Given the description of an element on the screen output the (x, y) to click on. 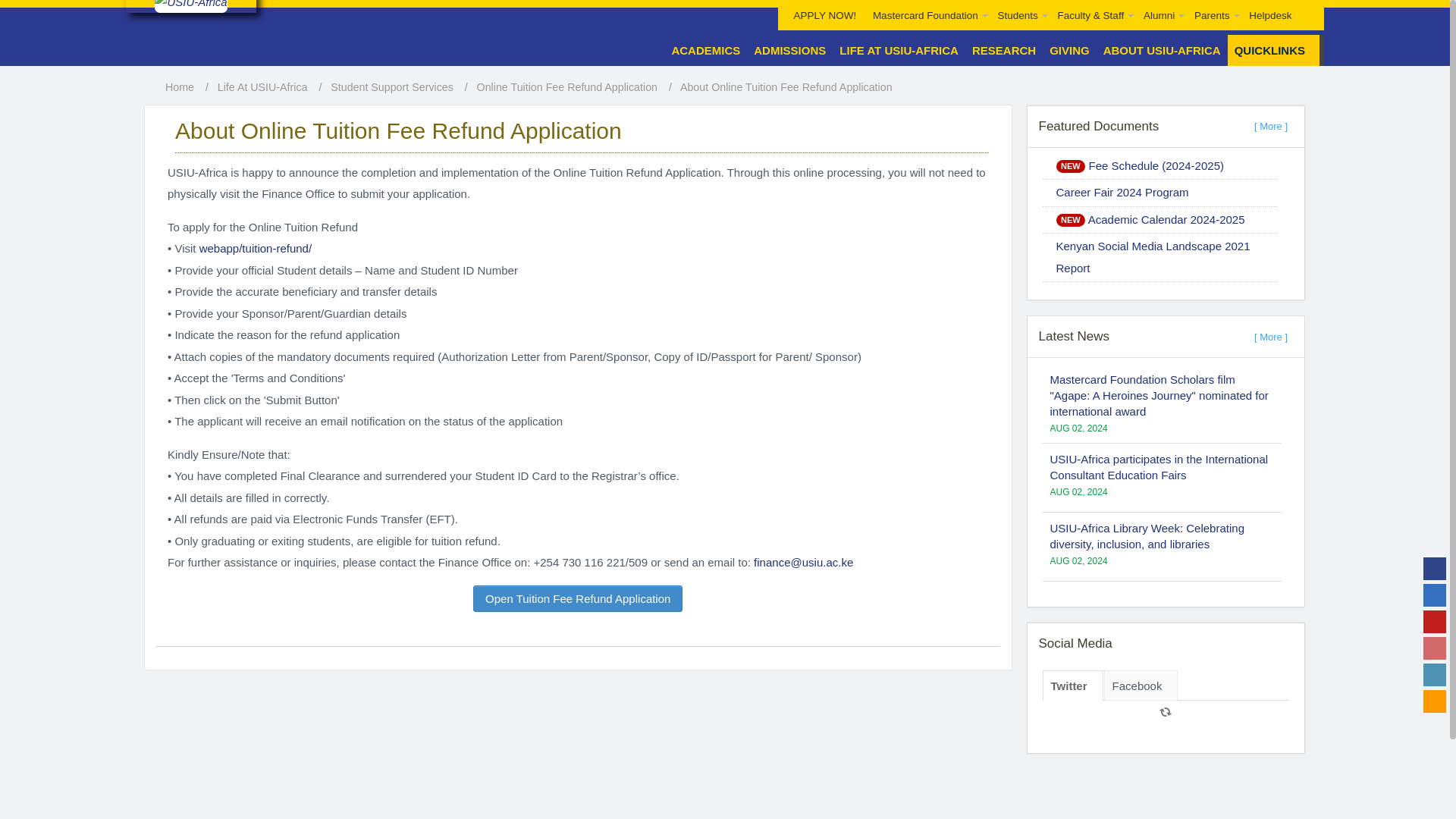
APPLY NOW! (825, 15)
AUG 02, 2024 (1077, 428)
Instagram (1434, 648)
AUG 02, 2024 (1077, 491)
Mastercard Foundation (927, 15)
X (1434, 594)
AUG 02, 2024 (1077, 714)
AUG 02, 2024 (1077, 762)
Students (1019, 15)
Talk to us (1434, 701)
AUG 02, 2024 (1077, 560)
YouTube (1434, 621)
AUG 02, 2024 (1077, 613)
Facebook (1434, 568)
Search (1308, 5)
